Given the description of an element on the screen output the (x, y) to click on. 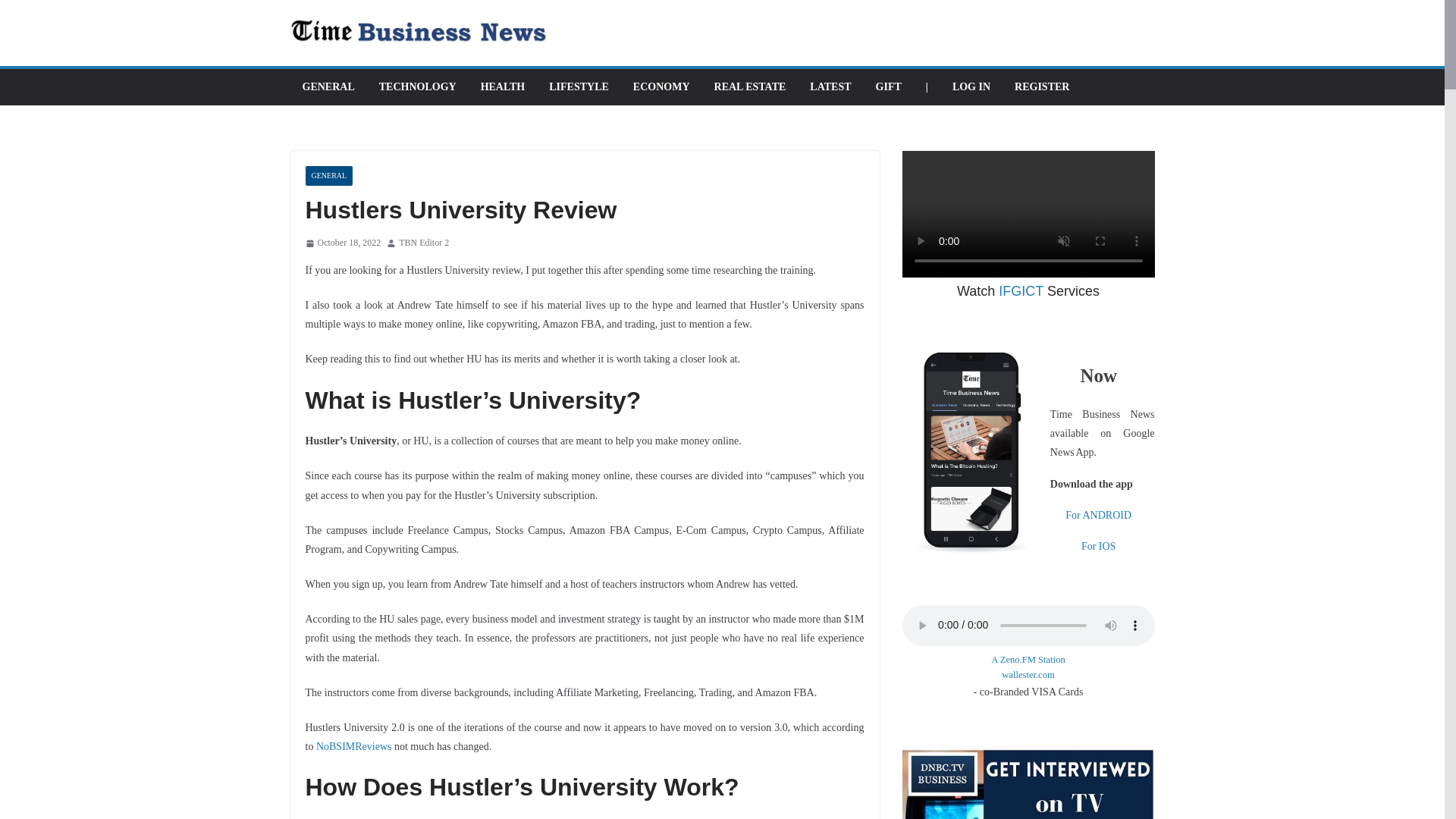
LIFESTYLE (578, 86)
HEALTH (502, 86)
For IOS (1098, 546)
IFGICT (1020, 290)
A Zeno.FM Station (1028, 659)
For ANDROID (1098, 514)
TBN Editor 2 (423, 243)
October 18, 2022 (342, 243)
wallester.com (1028, 674)
REAL ESTATE (750, 86)
GENERAL (327, 86)
LOG IN (971, 86)
LATEST (829, 86)
TECHNOLOGY (417, 86)
REGISTER (1041, 86)
